Given the description of an element on the screen output the (x, y) to click on. 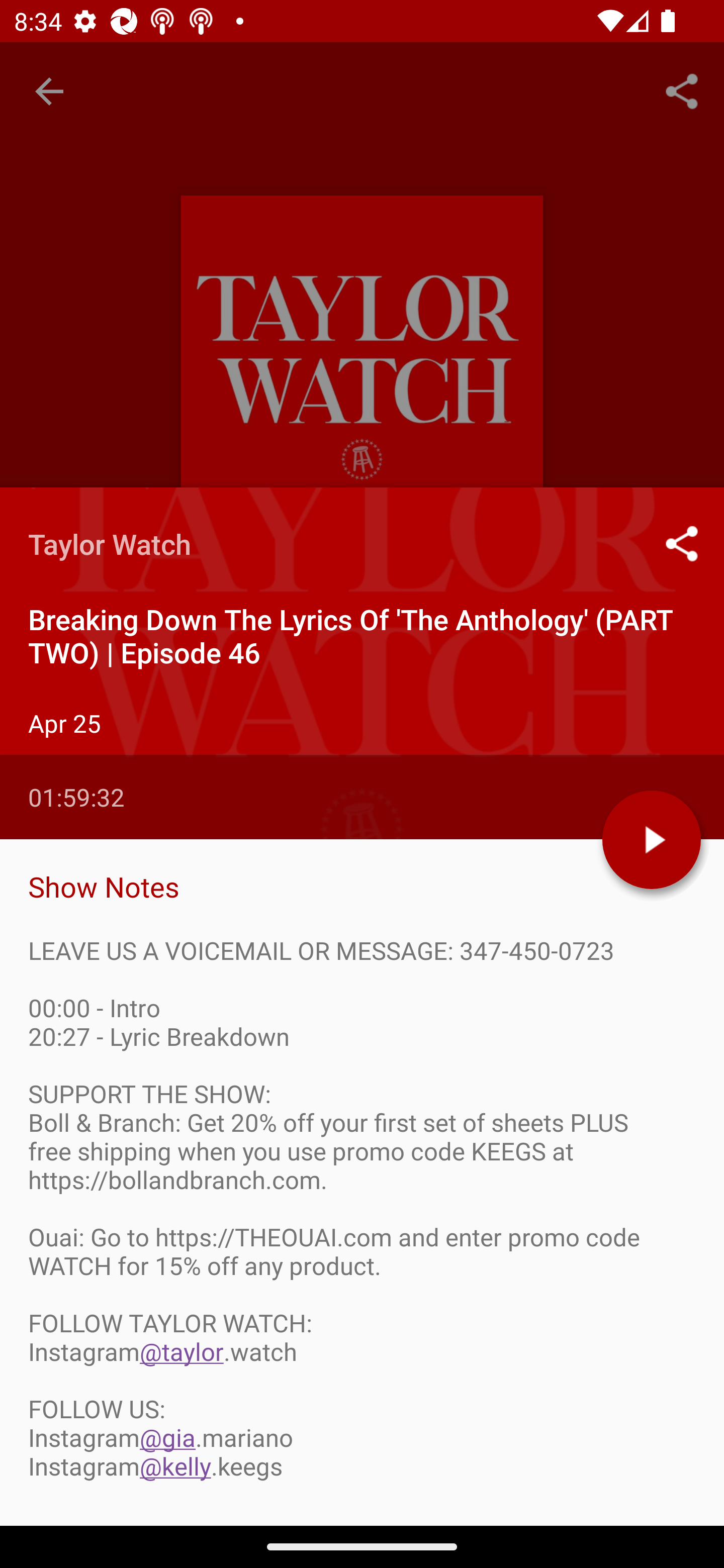
Navigate up (49, 91)
Share... (681, 90)
